Given the description of an element on the screen output the (x, y) to click on. 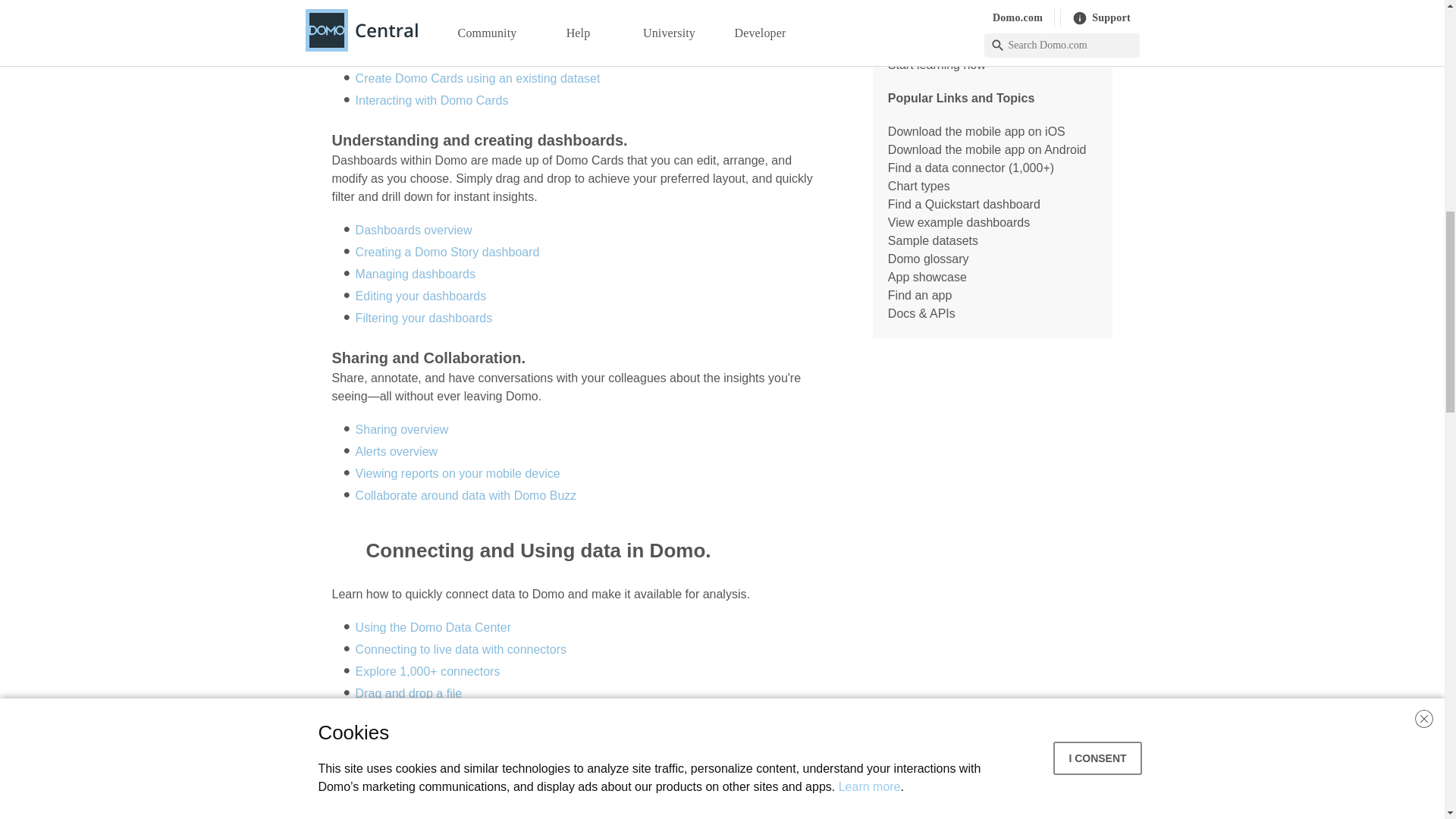
Domo Cards overview (414, 11)
